Given the description of an element on the screen output the (x, y) to click on. 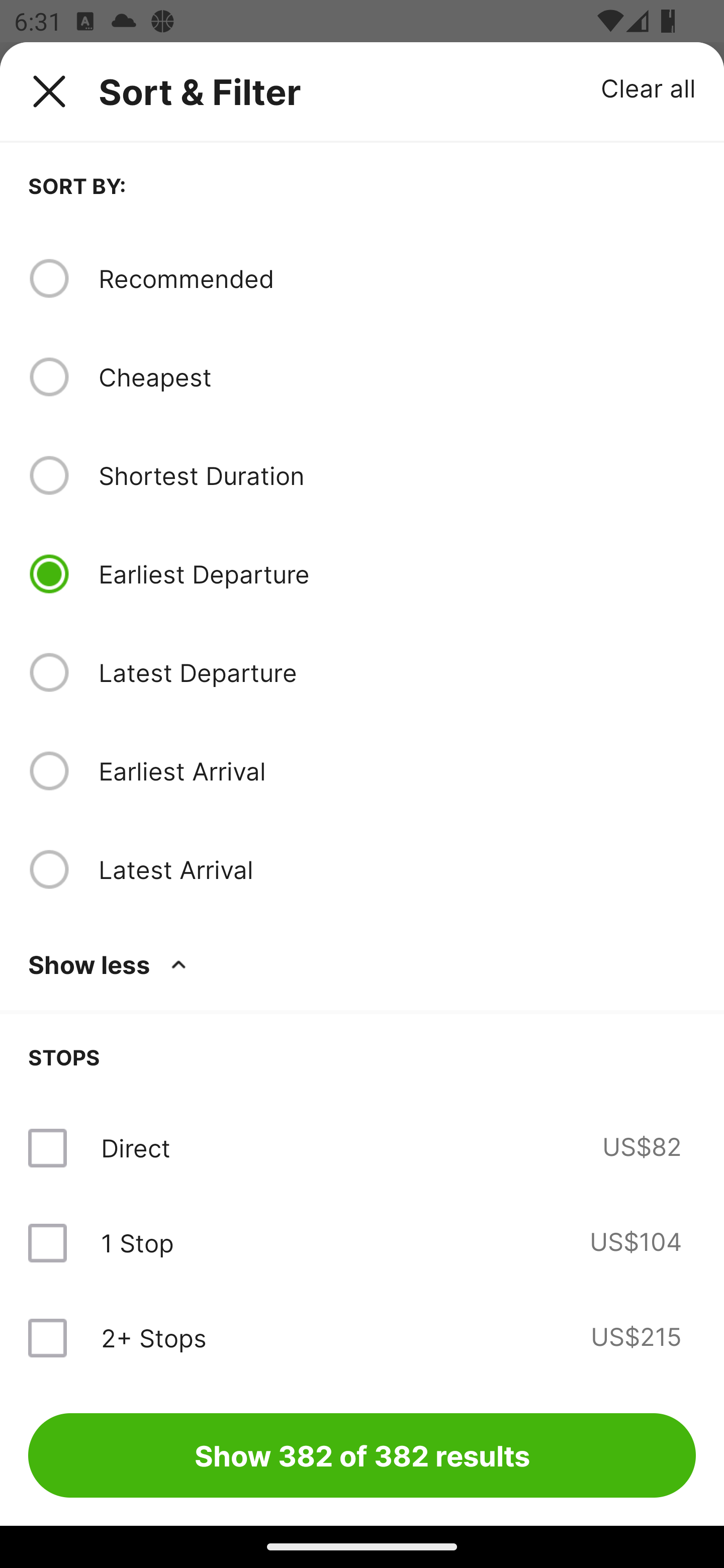
Clear all (648, 87)
Recommended  (396, 278)
Cheapest (396, 377)
Shortest Duration (396, 474)
Earliest Departure (396, 573)
Latest Departure (396, 672)
Earliest Arrival (396, 770)
Latest Arrival (396, 869)
Show less (110, 964)
Direct US$82 (362, 1147)
Direct (135, 1147)
1 Stop US$104 (362, 1242)
1 Stop (136, 1242)
2+ Stops US$215 (362, 1337)
2+ Stops (153, 1337)
Show 382 of 382 results (361, 1454)
